Given the description of an element on the screen output the (x, y) to click on. 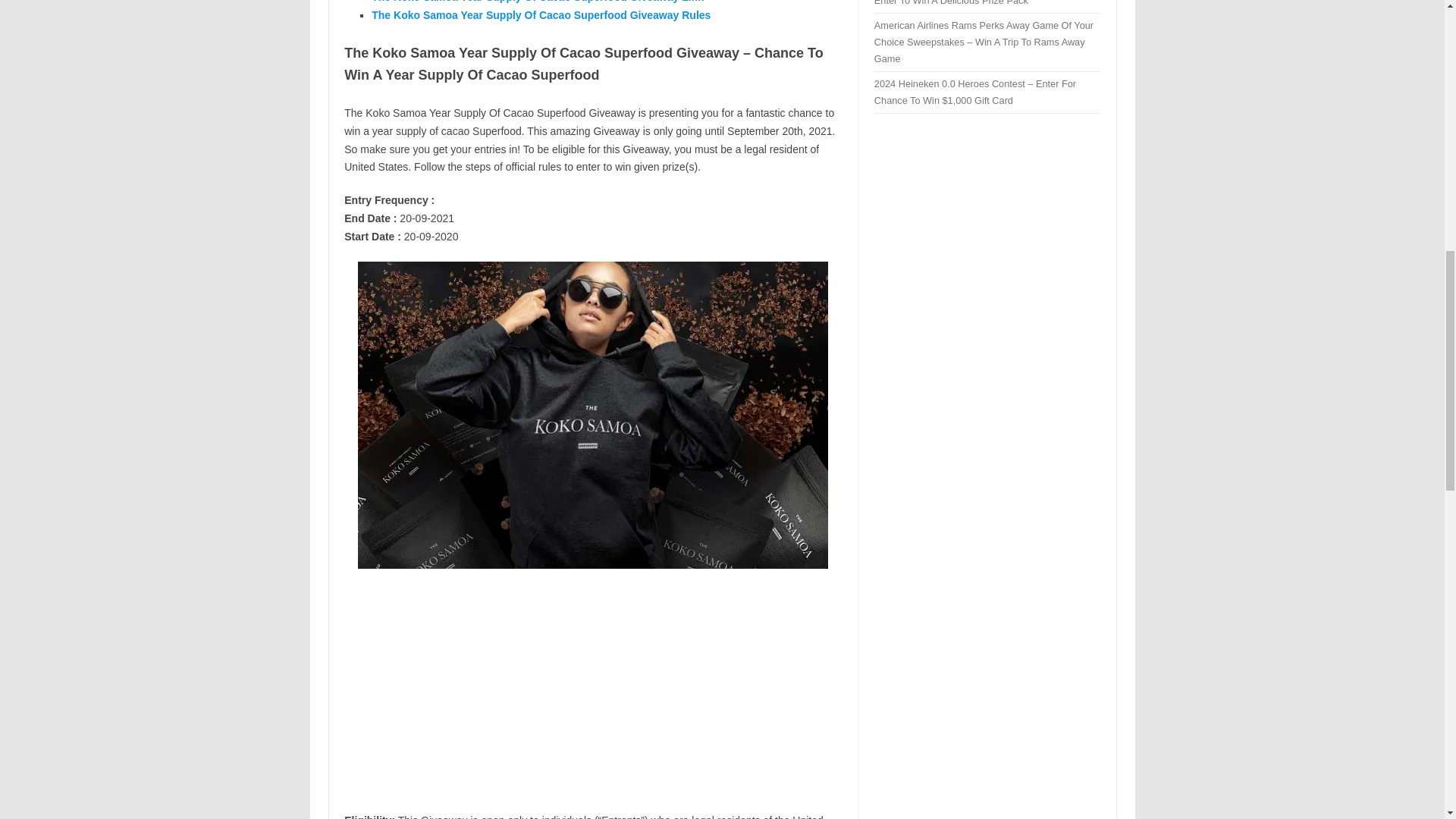
The Koko Samoa Year Supply Of Cacao Superfood Giveaway Rules (540, 15)
Advertisement (592, 690)
The Koko Samoa Year Supply Of Cacao Superfood Giveaway Rules (540, 15)
